Given the description of an element on the screen output the (x, y) to click on. 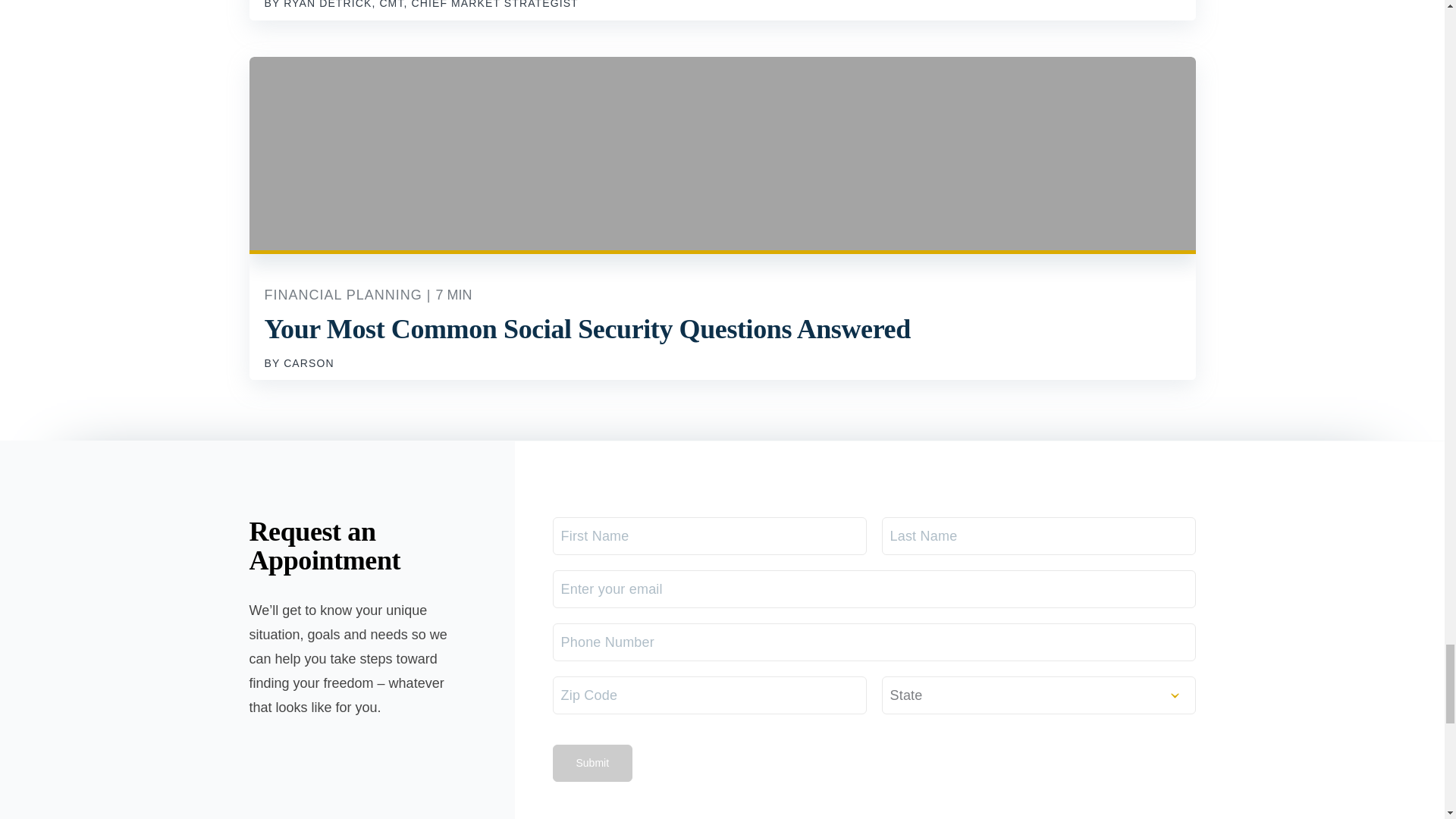
Submit (591, 762)
